Given the description of an element on the screen output the (x, y) to click on. 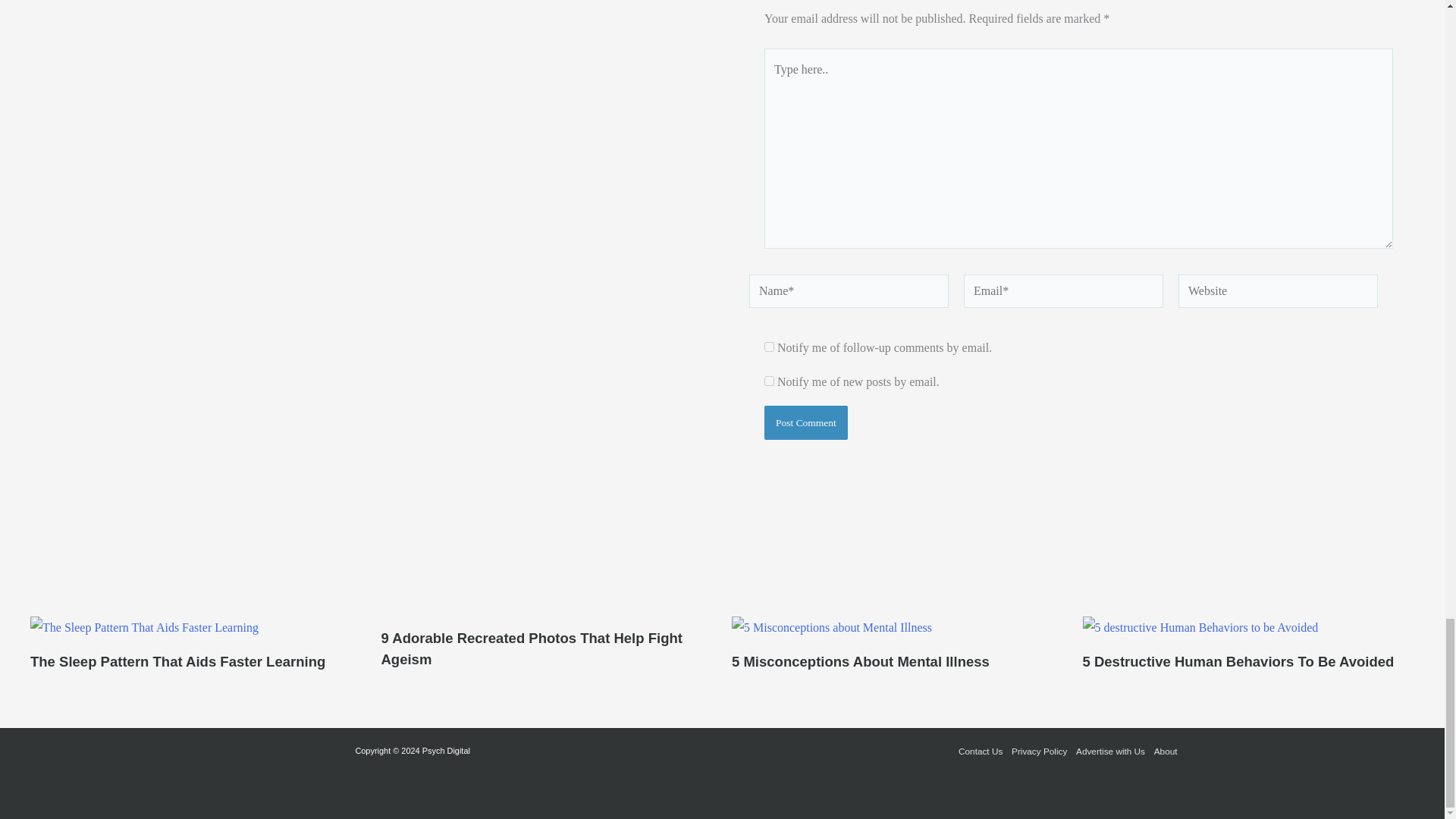
subscribe (769, 347)
subscribe (769, 380)
Post Comment (805, 422)
